Given the description of an element on the screen output the (x, y) to click on. 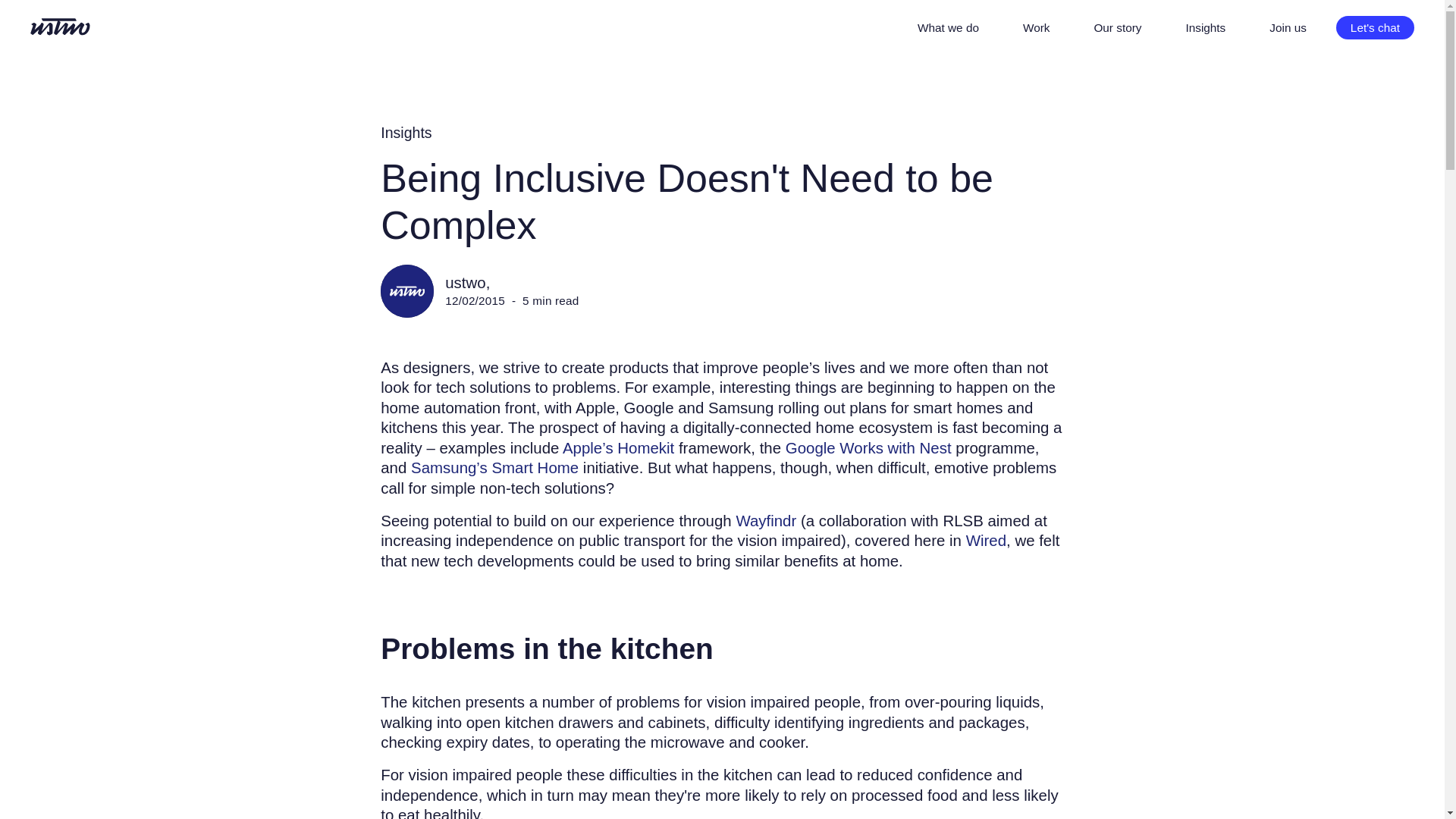
Insights (405, 132)
Join us (1287, 27)
Wayfindr (765, 520)
Insights (1205, 27)
ustwo (60, 29)
Let's chat (1374, 27)
Wayfindr (765, 520)
Work (1036, 27)
Our story (1117, 27)
Works with Nest (869, 447)
Google Works with Nest (869, 447)
ustwo (60, 27)
What we do (947, 27)
Wired (986, 539)
